Given the description of an element on the screen output the (x, y) to click on. 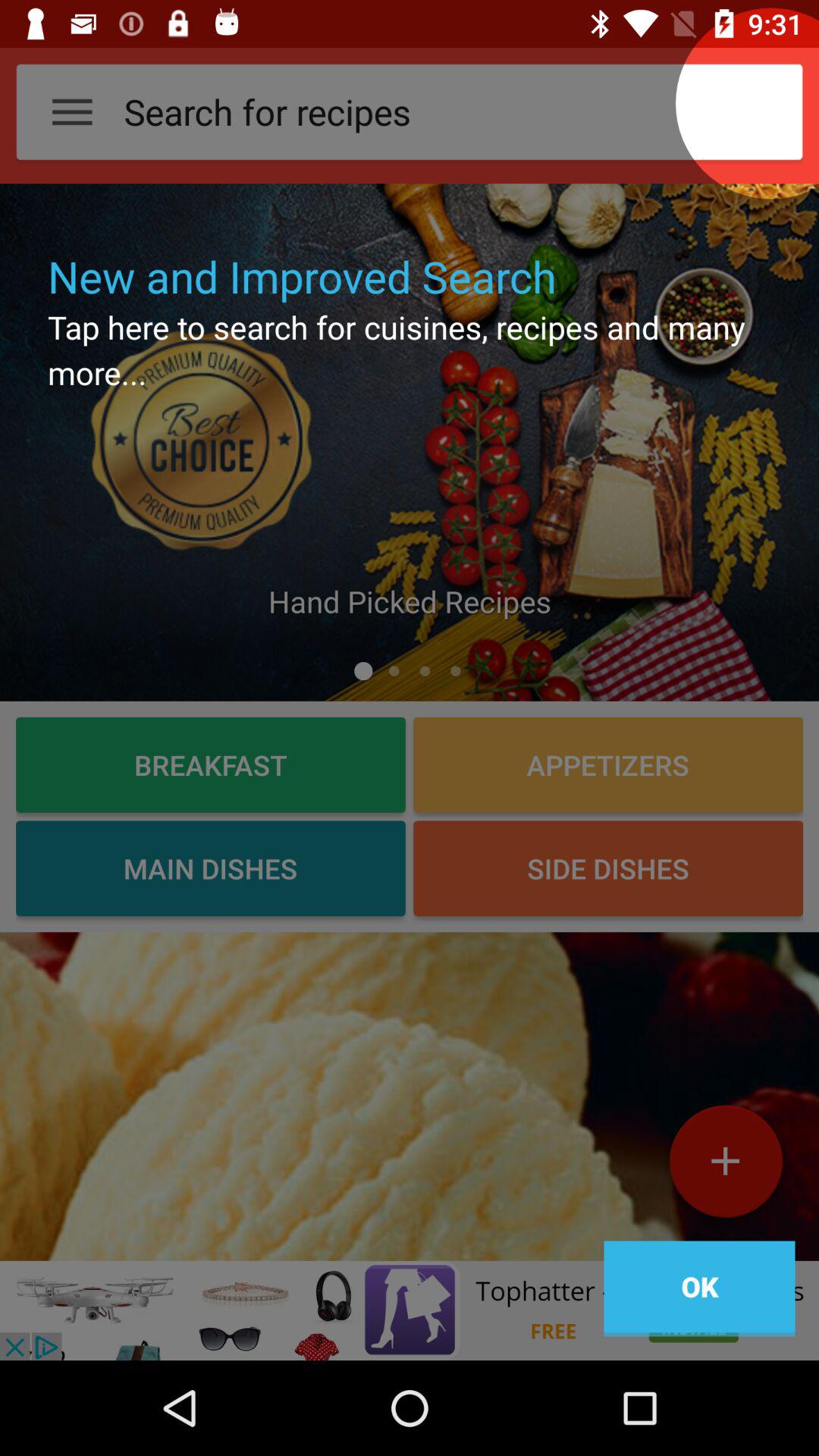
click on advertisement (409, 1310)
